Given the description of an element on the screen output the (x, y) to click on. 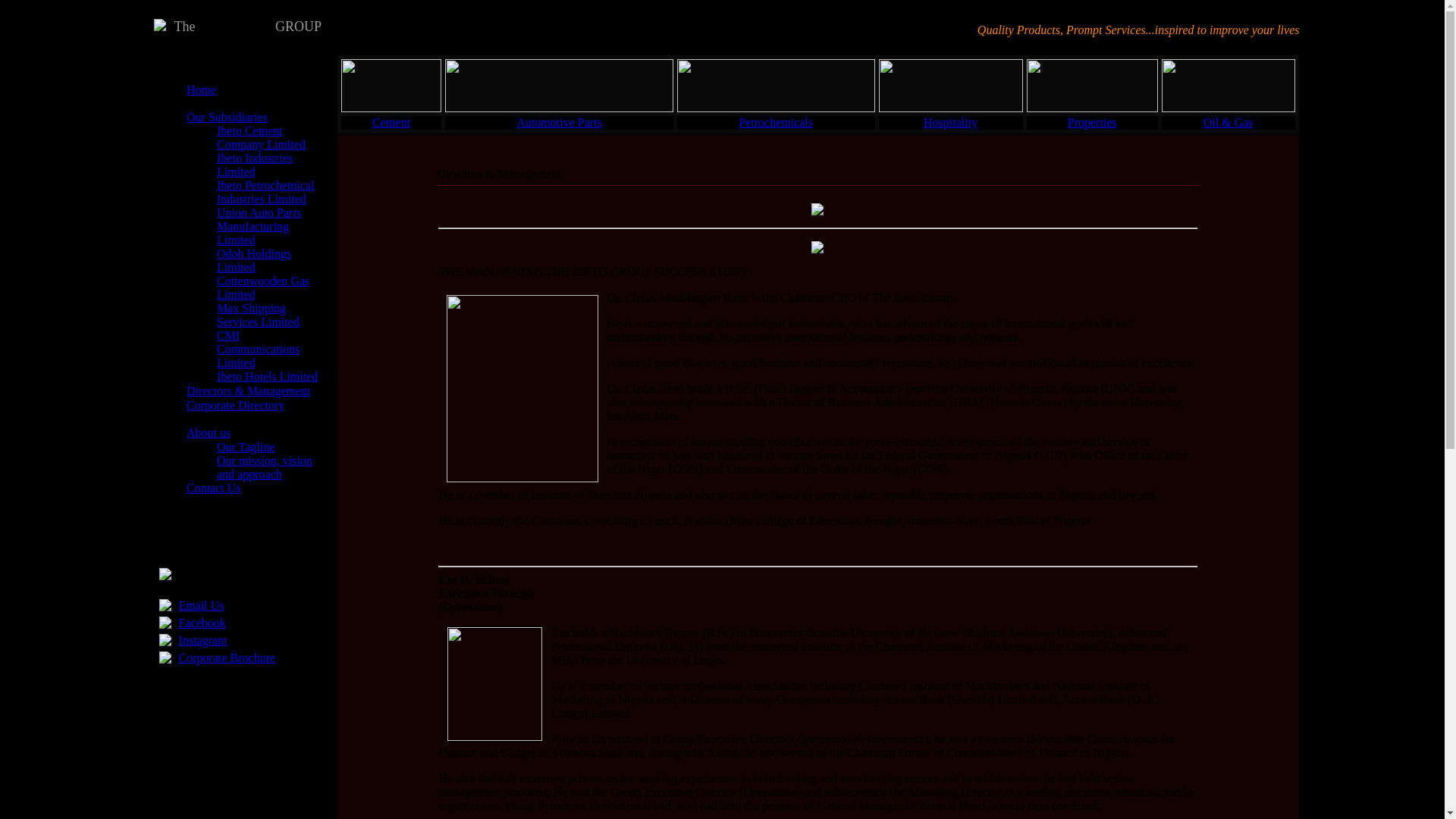
Cottenwooden Gas Limited (262, 287)
Facebook (202, 622)
Automotive Parts (558, 122)
Home (200, 89)
Odoh Holdings Limited (253, 260)
Hospitality (949, 122)
Our Subsidiaries (226, 116)
Ibeto Hotels Limited (266, 376)
Email Us (201, 604)
Our Tagline (245, 446)
